Given the description of an element on the screen output the (x, y) to click on. 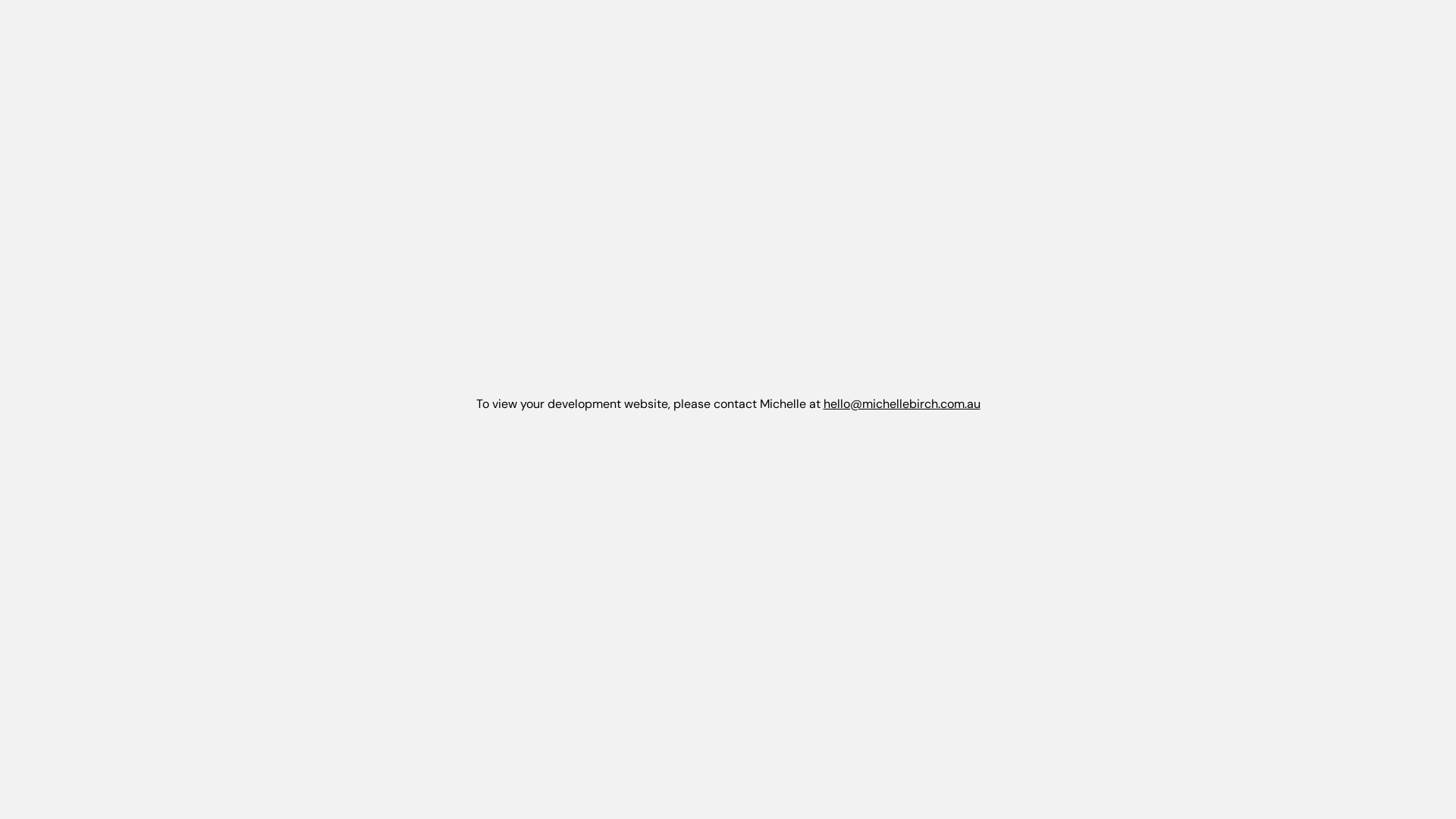
hello@michellebirch.com.au Element type: text (901, 403)
